Given the description of an element on the screen output the (x, y) to click on. 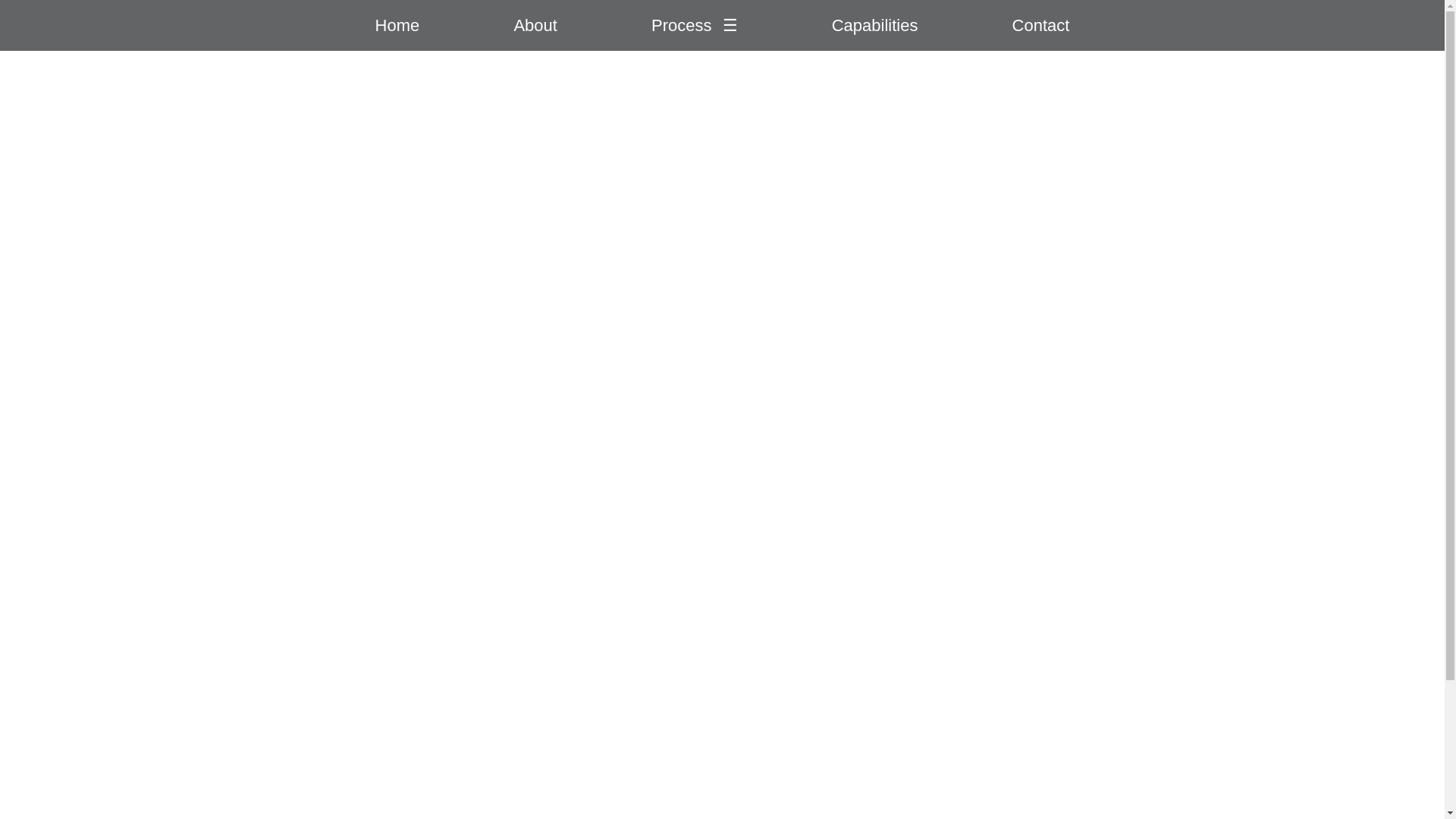
Process (680, 24)
Home (397, 24)
Capabilities (874, 24)
Contact (1041, 24)
About (535, 24)
